Given the description of an element on the screen output the (x, y) to click on. 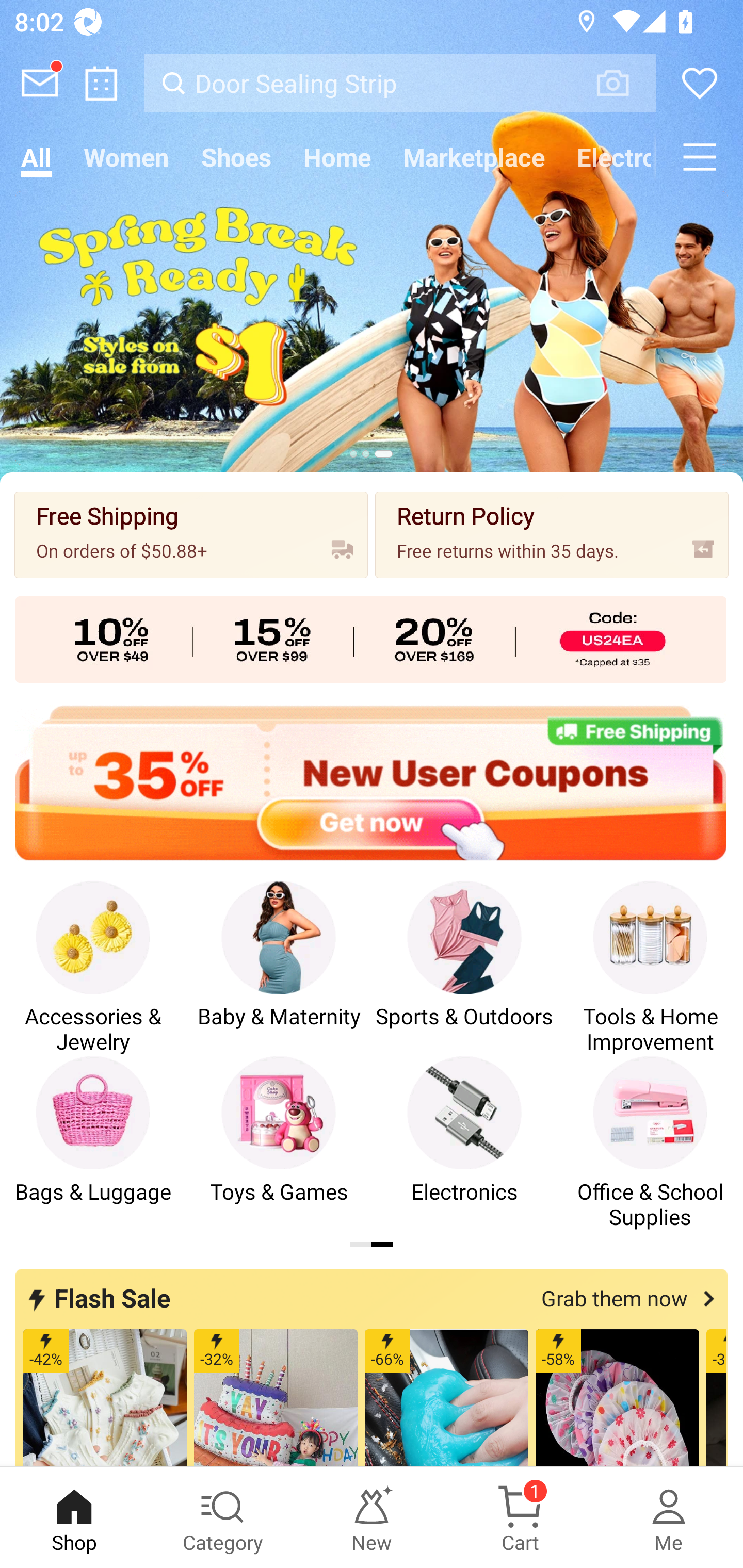
Wishlist (699, 82)
VISUAL SEARCH (623, 82)
All (36, 156)
Women (126, 156)
Shoes (236, 156)
Home (337, 156)
Marketplace (473, 156)
Electronics (608, 156)
Free Shipping On orders of $50.88+ (190, 534)
Return Policy Free returns within 35 days. (551, 534)
Accessories & Jewelry (92, 968)
Baby & Maternity (278, 968)
Sports & Outdoors (464, 968)
Tools & Home Improvement (650, 968)
Bags & Luggage (92, 1142)
Toys & Games (278, 1142)
Electronics (464, 1142)
Office & School Supplies (650, 1142)
Category (222, 1517)
New (371, 1517)
Cart 1 Cart (519, 1517)
Me (668, 1517)
